Given the description of an element on the screen output the (x, y) to click on. 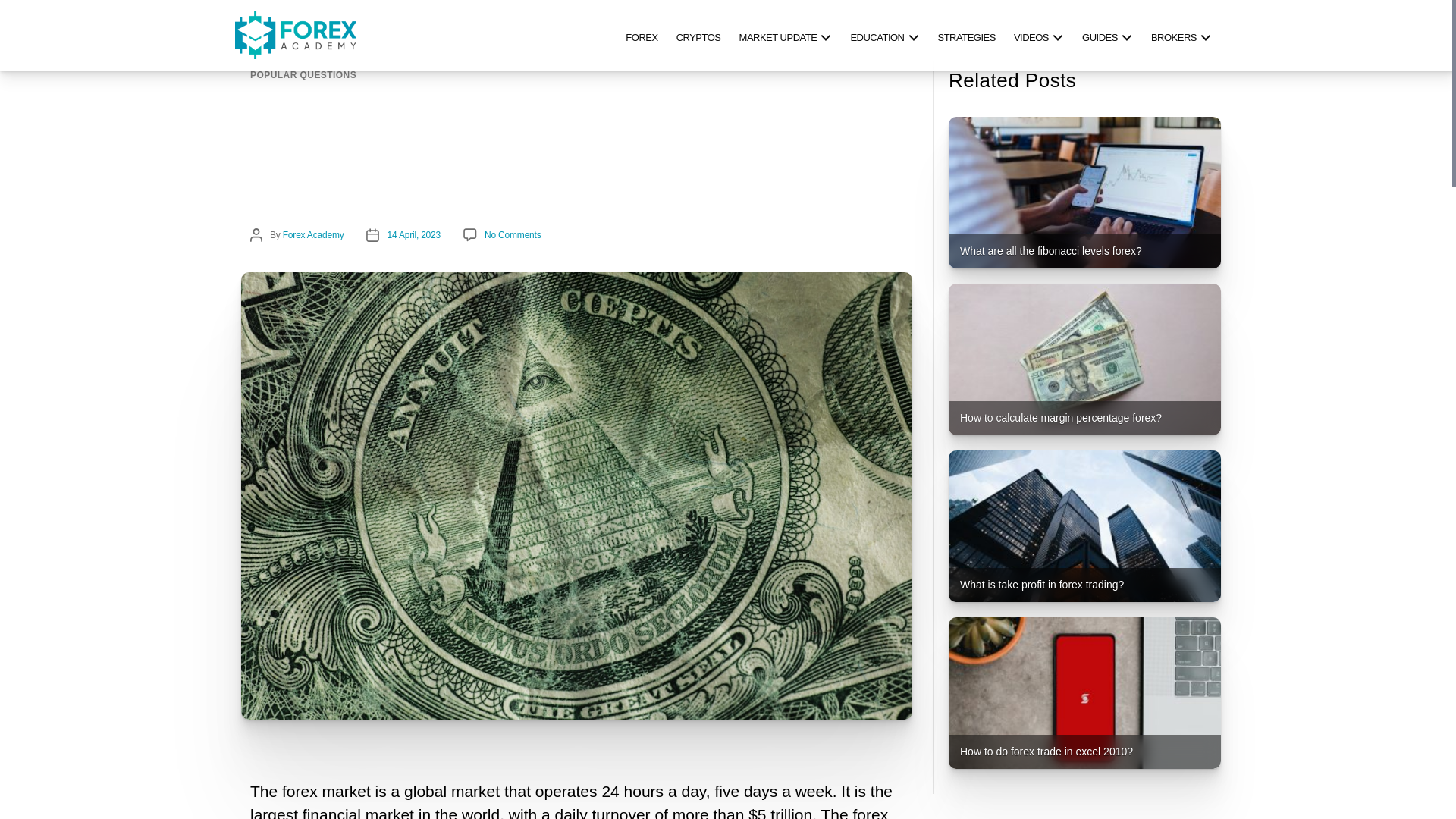
What is take profit in forex trading? (1085, 525)
BROKERS (1181, 35)
GUIDES (1107, 35)
EDUCATION (884, 35)
MARKET UPDATE (785, 35)
VIDEOS (1038, 35)
CRYPTOS (698, 35)
How to do forex trade in excel 2010? (1085, 693)
What are all the fibonacci levels forex? (1085, 192)
STRATEGIES (966, 35)
